Given the description of an element on the screen output the (x, y) to click on. 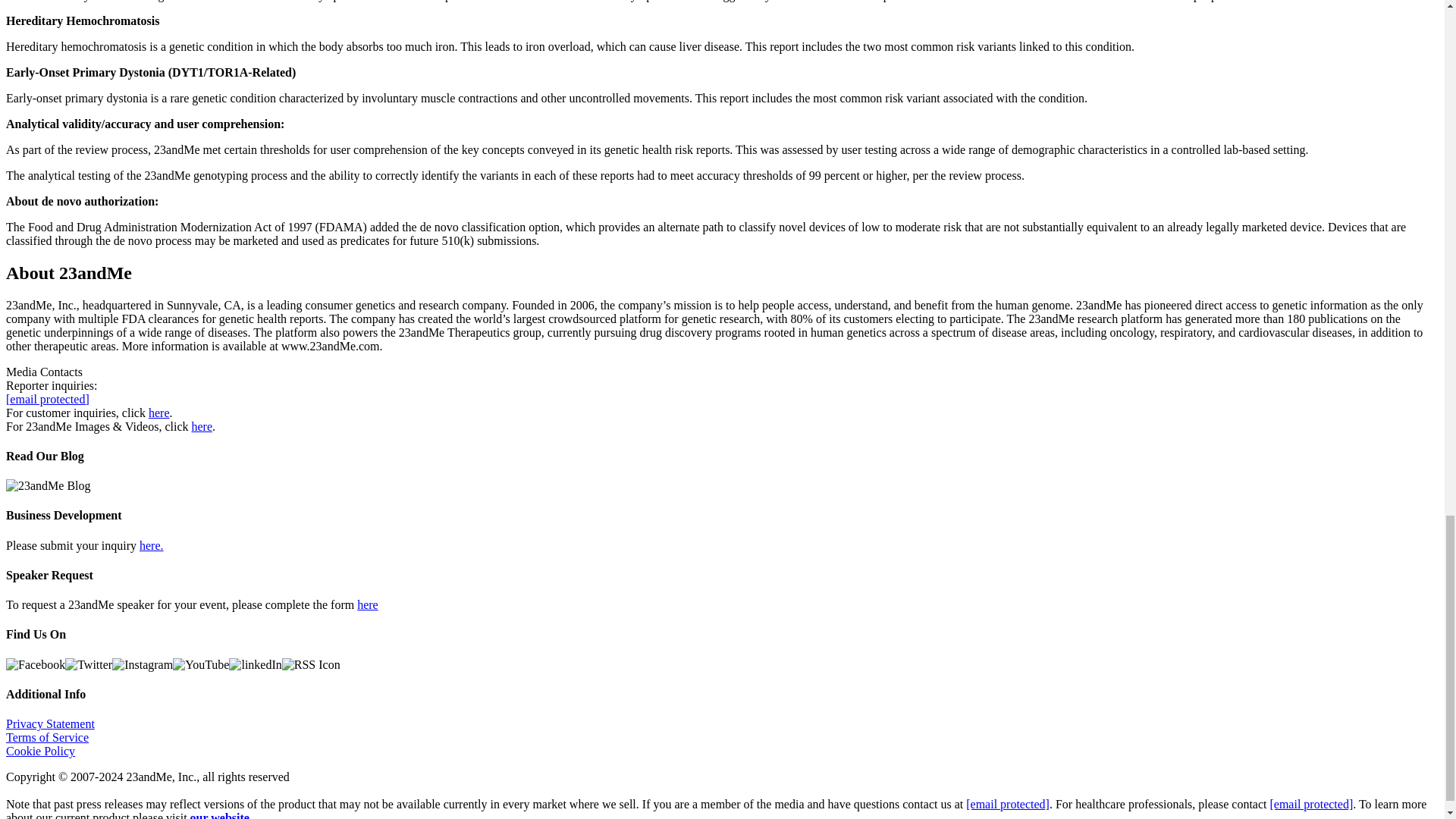
here (159, 411)
here (201, 425)
here. (151, 545)
Cookie Policy (40, 750)
here (367, 604)
Terms of Service (46, 737)
Privacy Statement (49, 723)
